Given the description of an element on the screen output the (x, y) to click on. 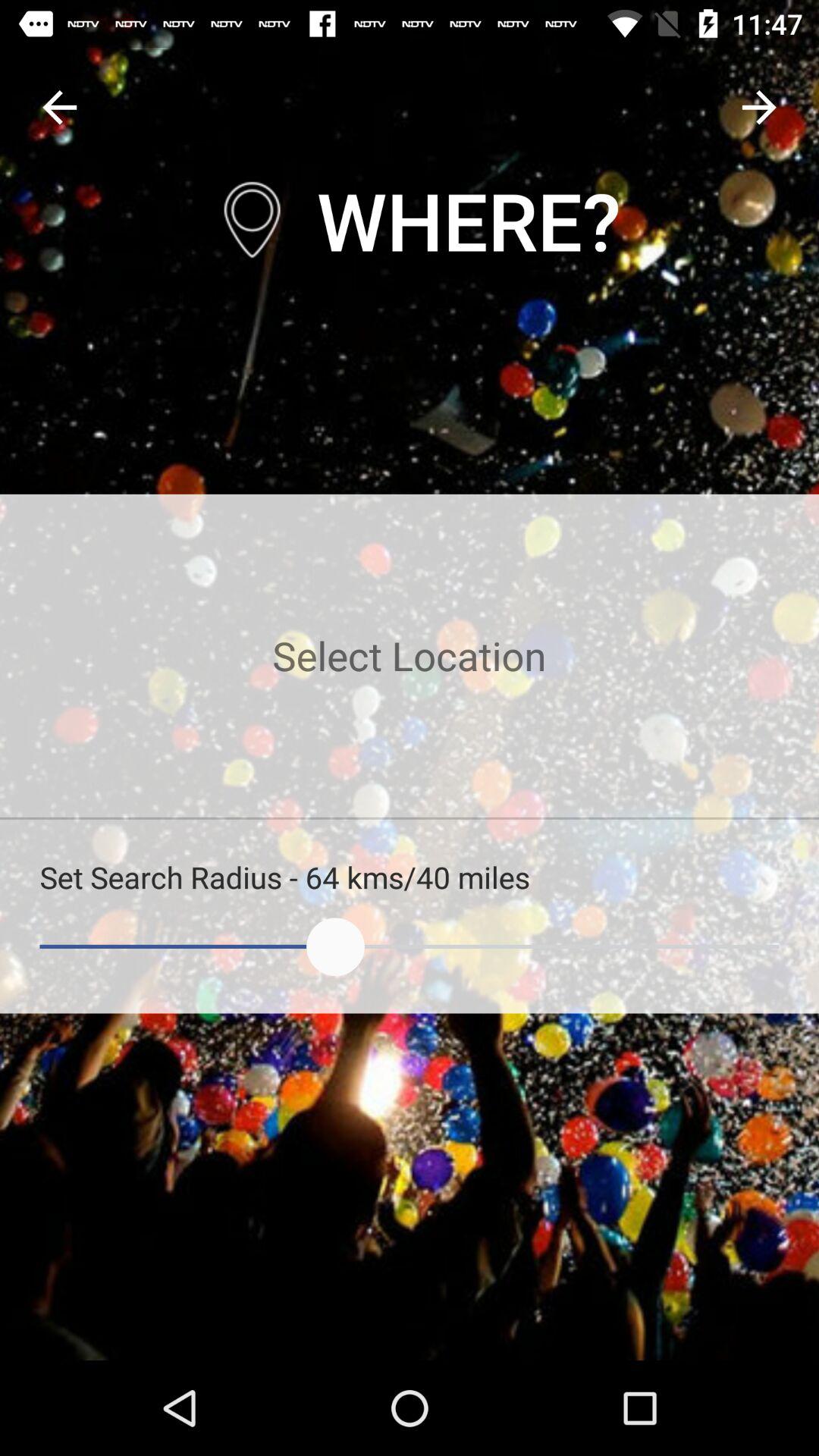
select icon below where? icon (409, 655)
